Given the description of an element on the screen output the (x, y) to click on. 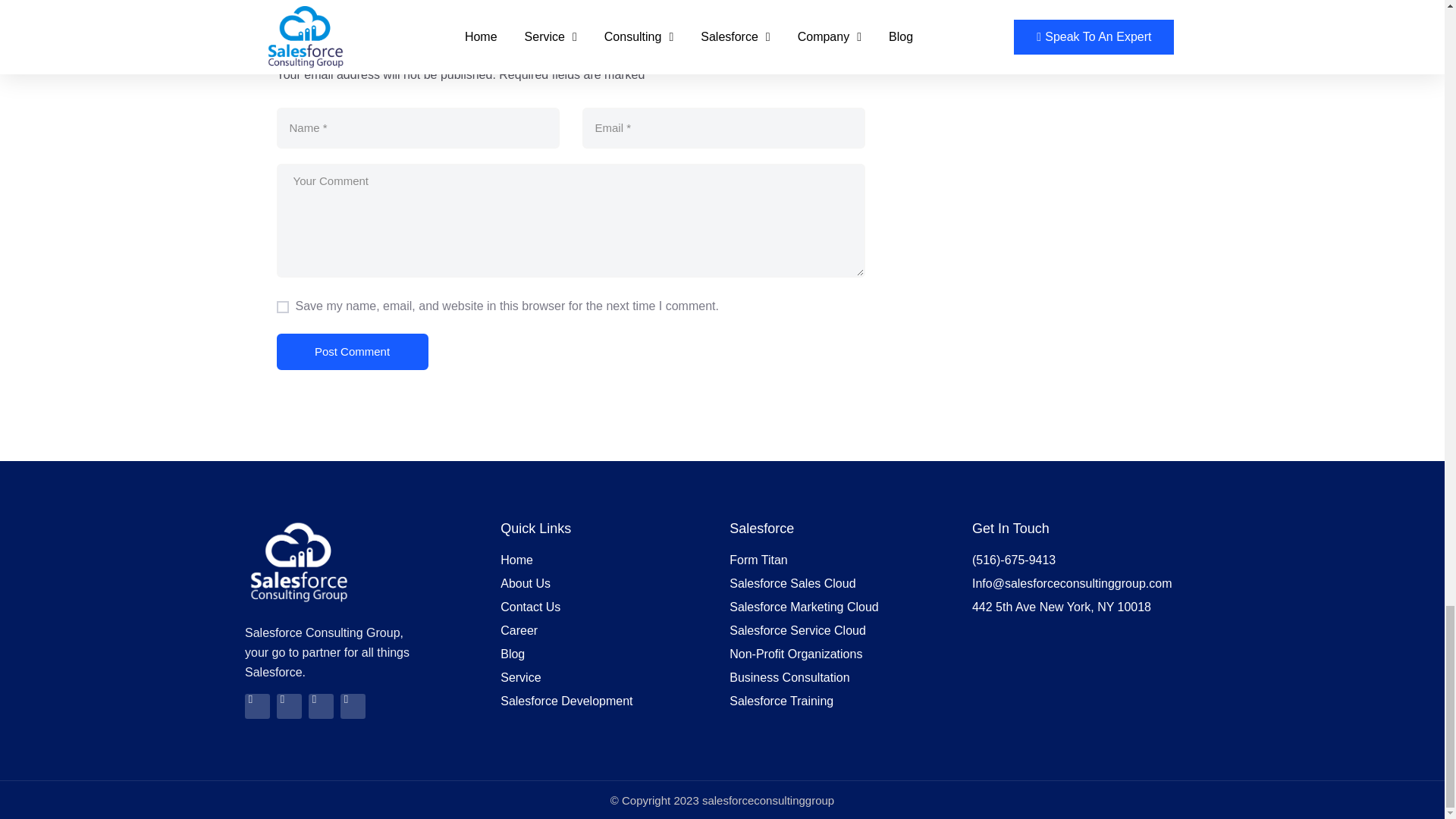
Post Comment (352, 352)
